Given the description of an element on the screen output the (x, y) to click on. 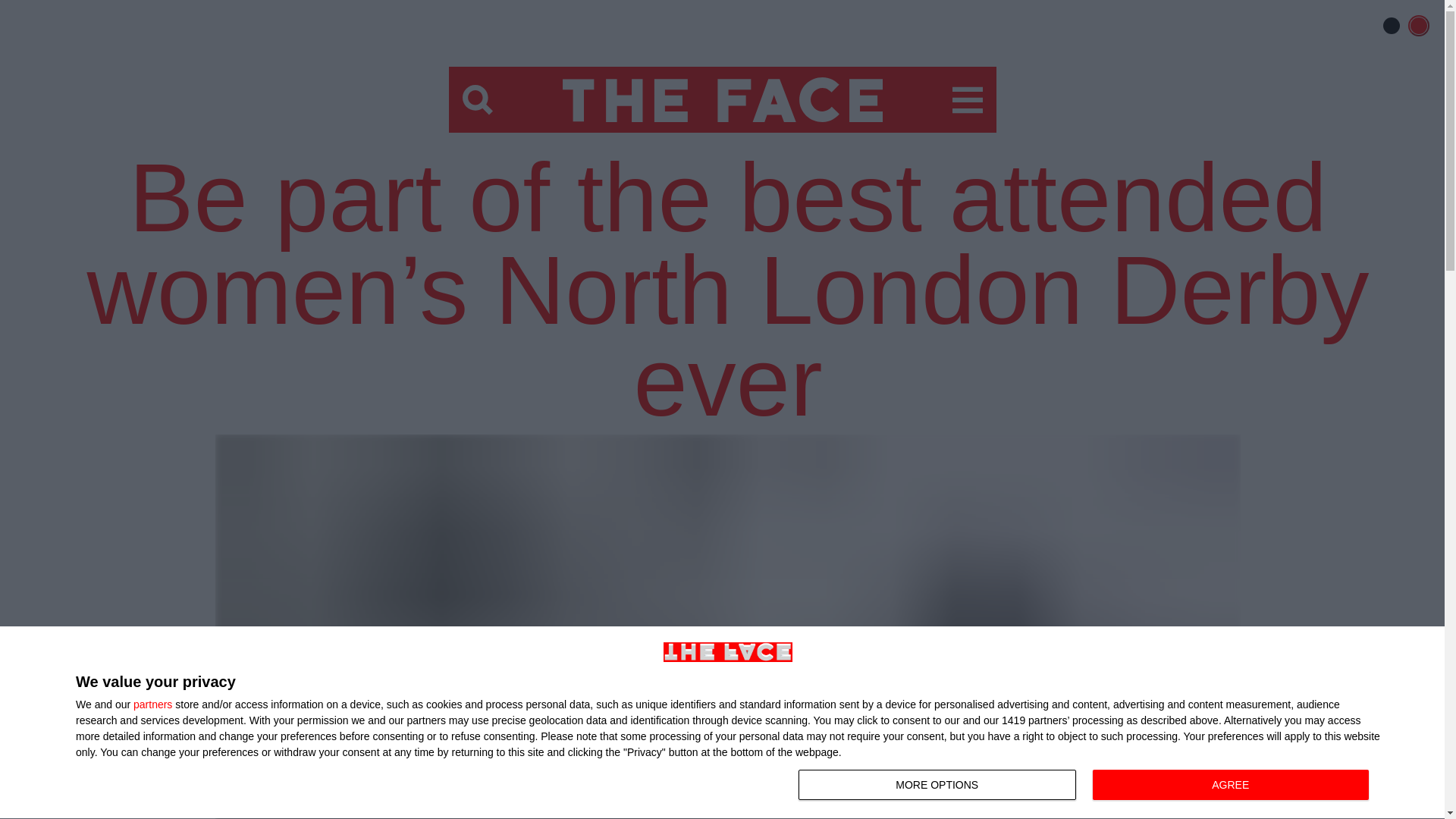
partners (1086, 785)
MORE OPTIONS (152, 704)
Reveal menu (936, 784)
Reveal search bar (967, 100)
AGREE (478, 100)
